Given the description of an element on the screen output the (x, y) to click on. 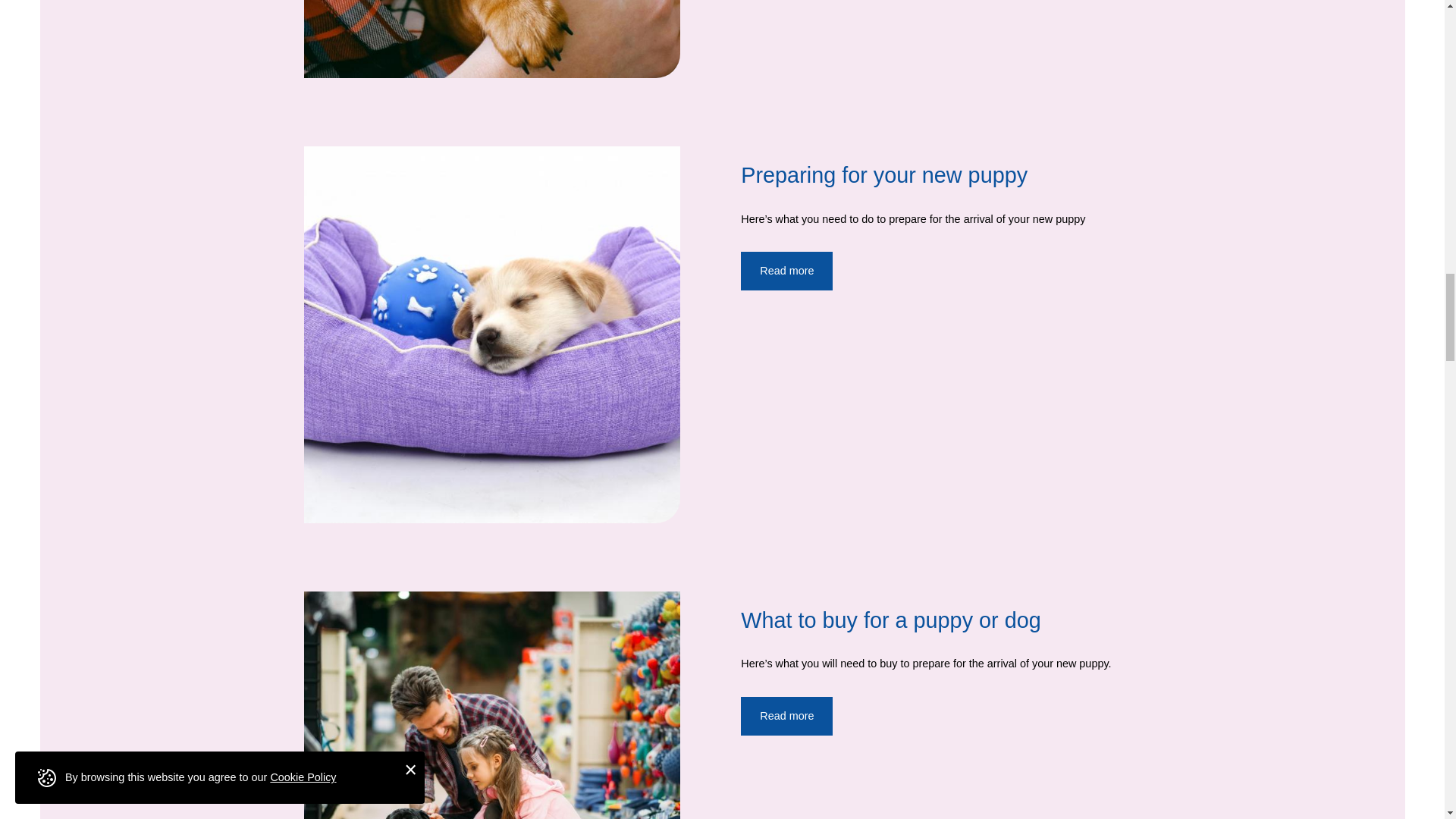
What to buy for your puppy or dog (786, 715)
Read more (786, 270)
Read more (786, 715)
Preparing for a puppy (786, 270)
